Given the description of an element on the screen output the (x, y) to click on. 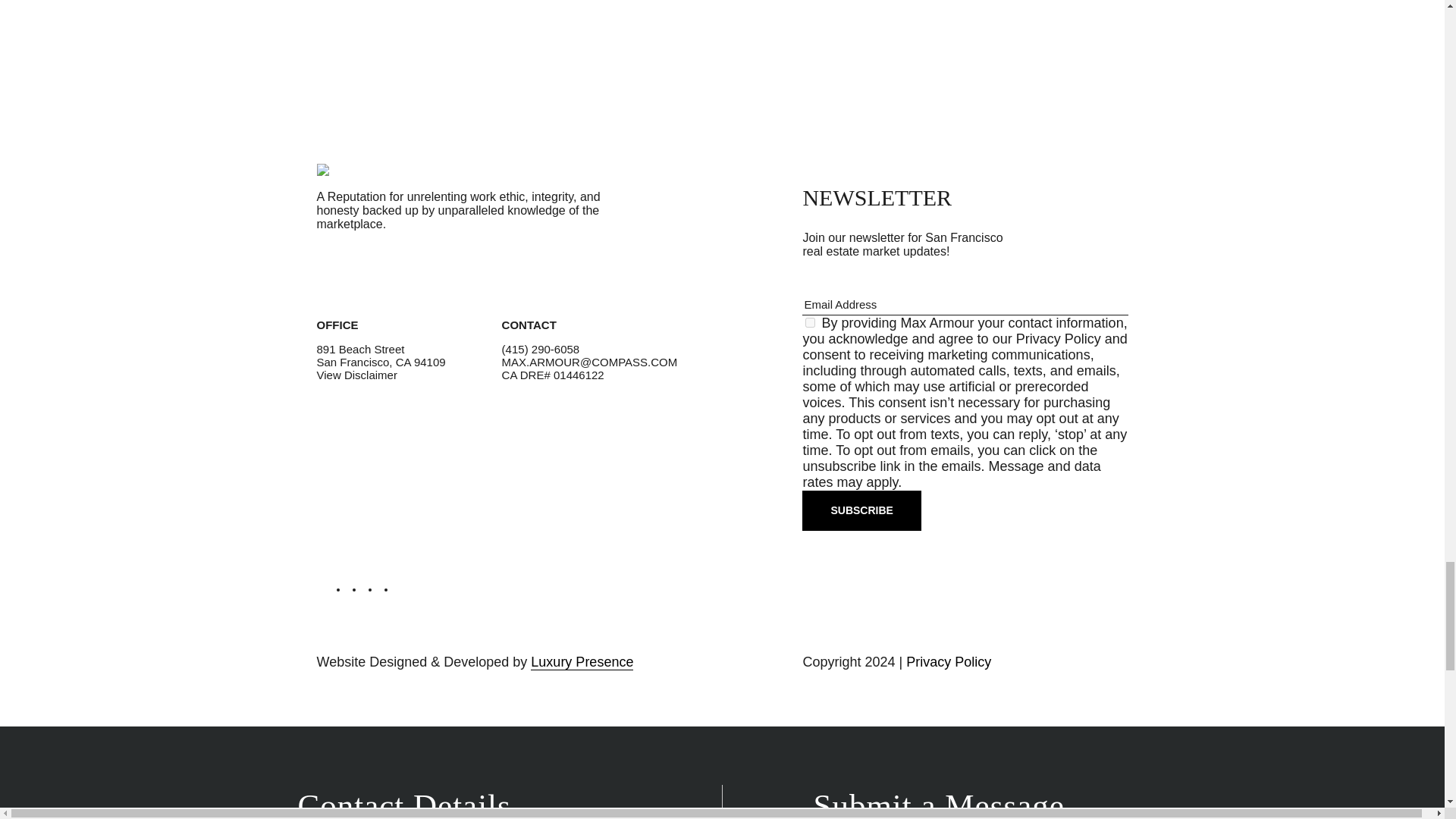
on (810, 322)
View Disclaimer (357, 374)
SUBSCRIBE (861, 510)
SUBSCRIBE (861, 510)
Privacy Policy (1058, 338)
